Given the description of an element on the screen output the (x, y) to click on. 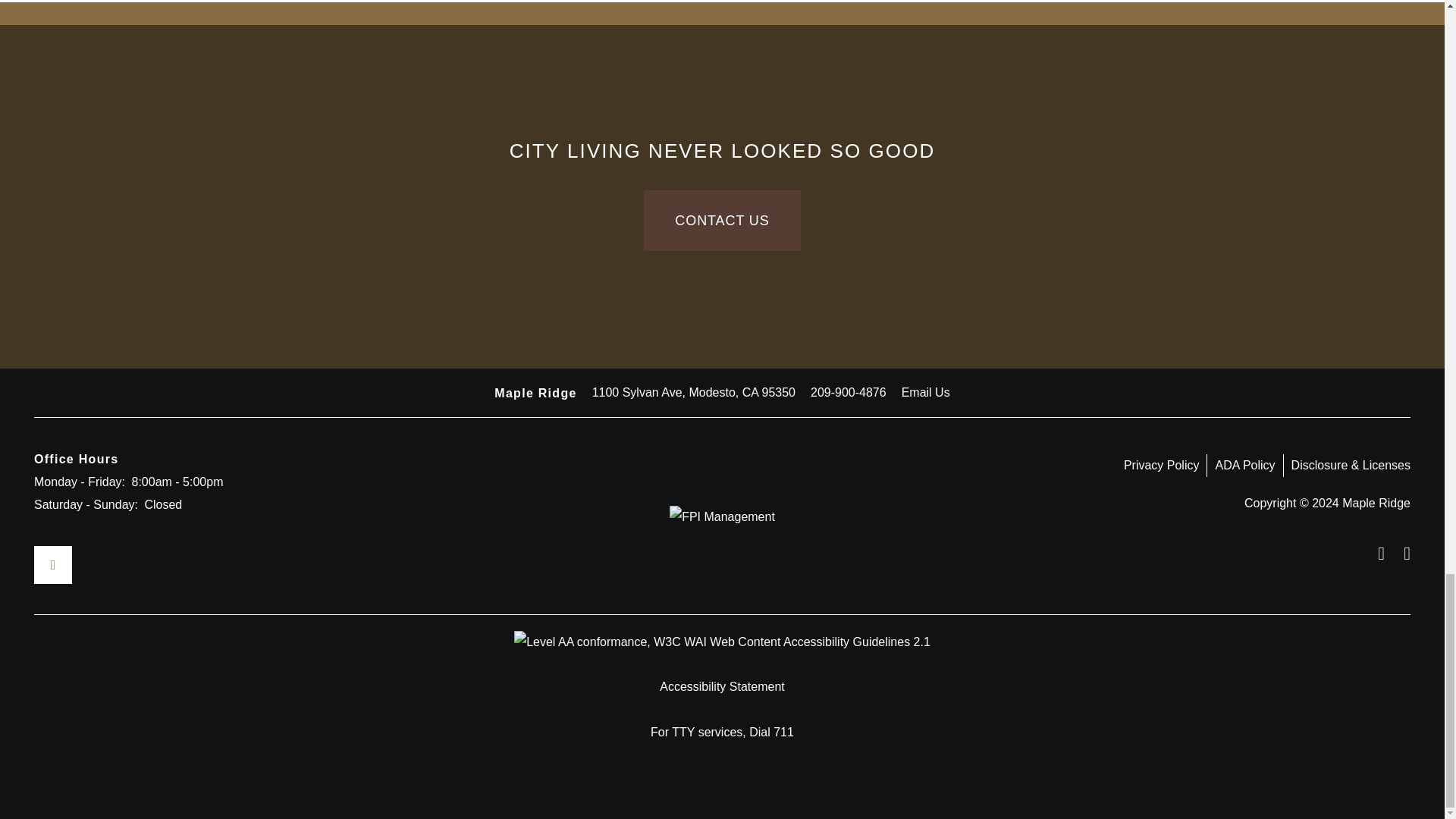
1100 Sylvan Ave, Modesto, CA 95350 (693, 393)
CONTACT US (721, 220)
Equal Opportunity Housing (1375, 553)
Privacy Policy (1166, 465)
209-900-4876 (848, 393)
Email Us (925, 393)
ADA Policy (1248, 465)
Google My Business (52, 564)
Property Phone Number (848, 393)
